Given the description of an element on the screen output the (x, y) to click on. 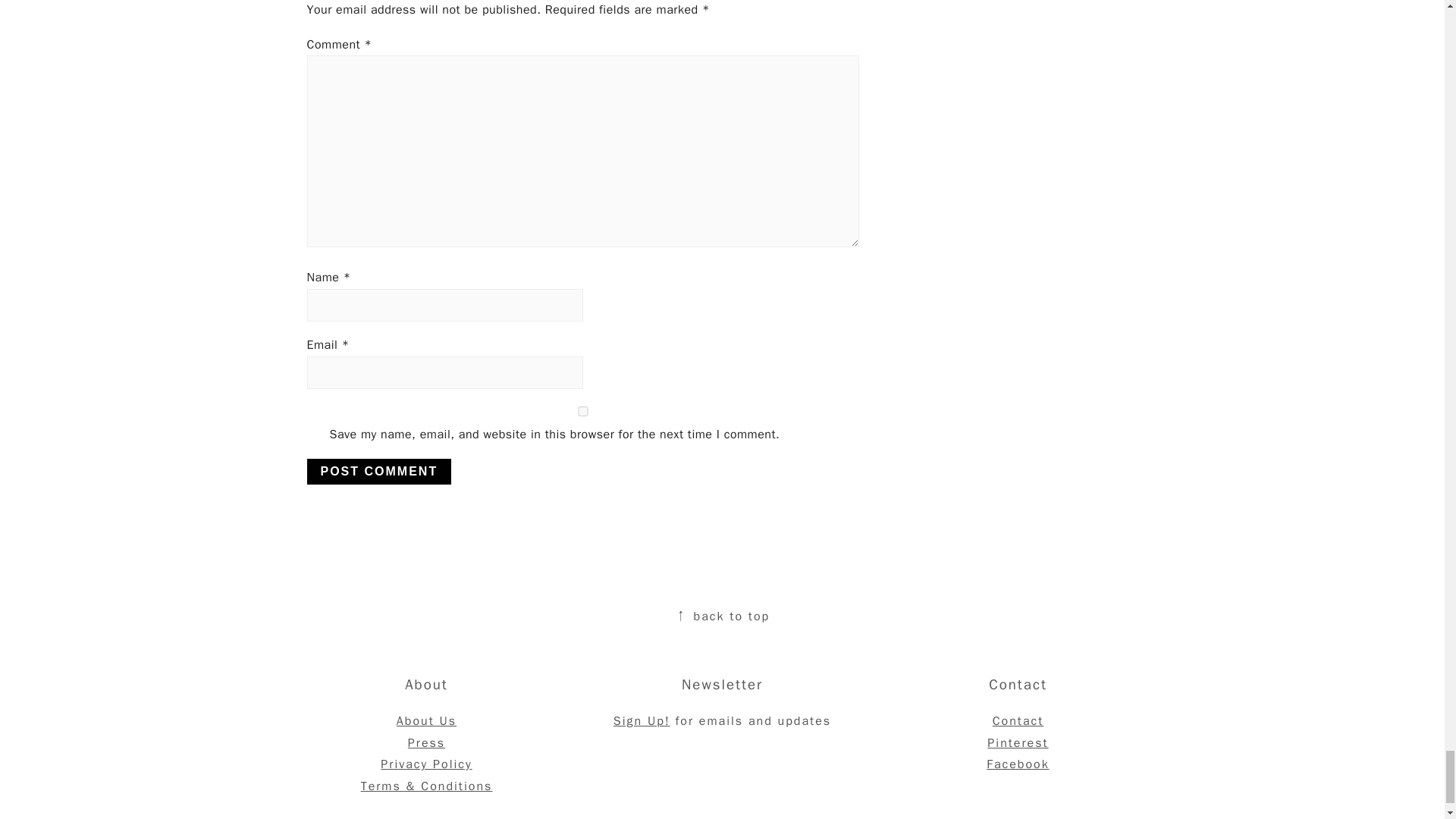
yes (582, 411)
Post Comment (378, 471)
